Given the description of an element on the screen output the (x, y) to click on. 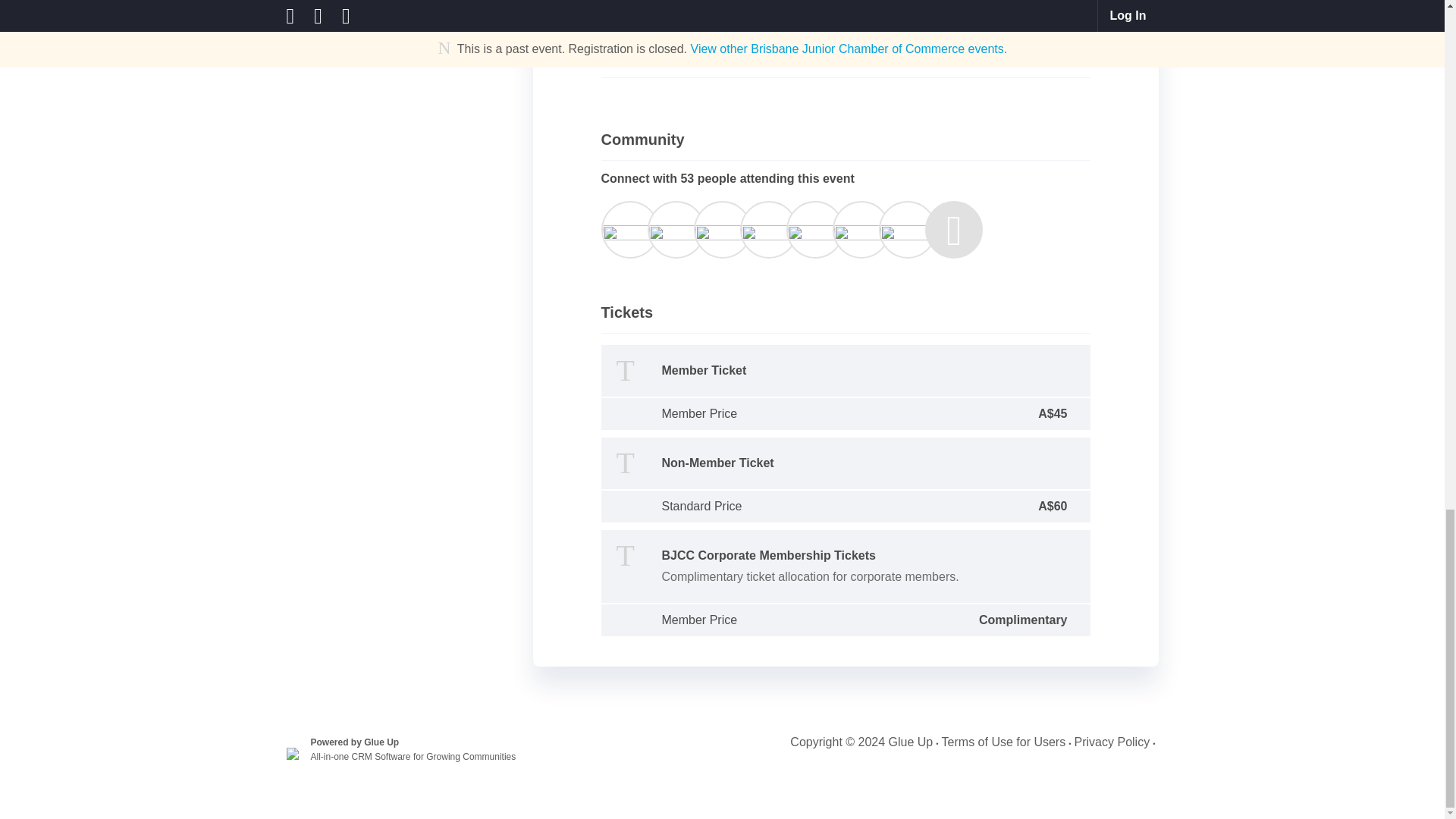
Open in new tab (679, 23)
